Given the description of an element on the screen output the (x, y) to click on. 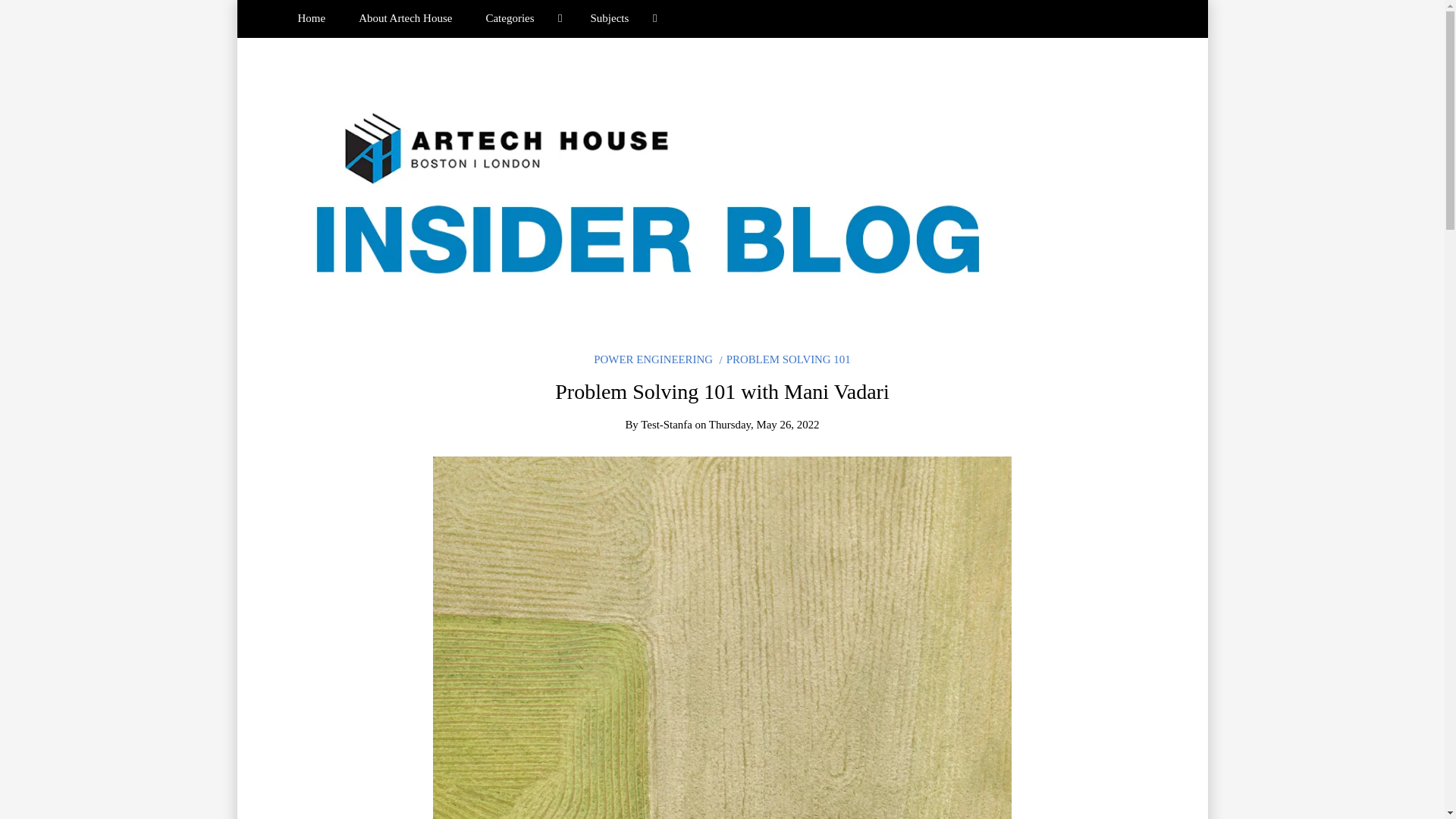
About Artech House (405, 18)
Permalink to: "Problem Solving 101 with Mani Vadari" (721, 647)
Posts by test-stanfa (666, 424)
Subjects (620, 18)
Home (311, 18)
Categories (521, 18)
